Given the description of an element on the screen output the (x, y) to click on. 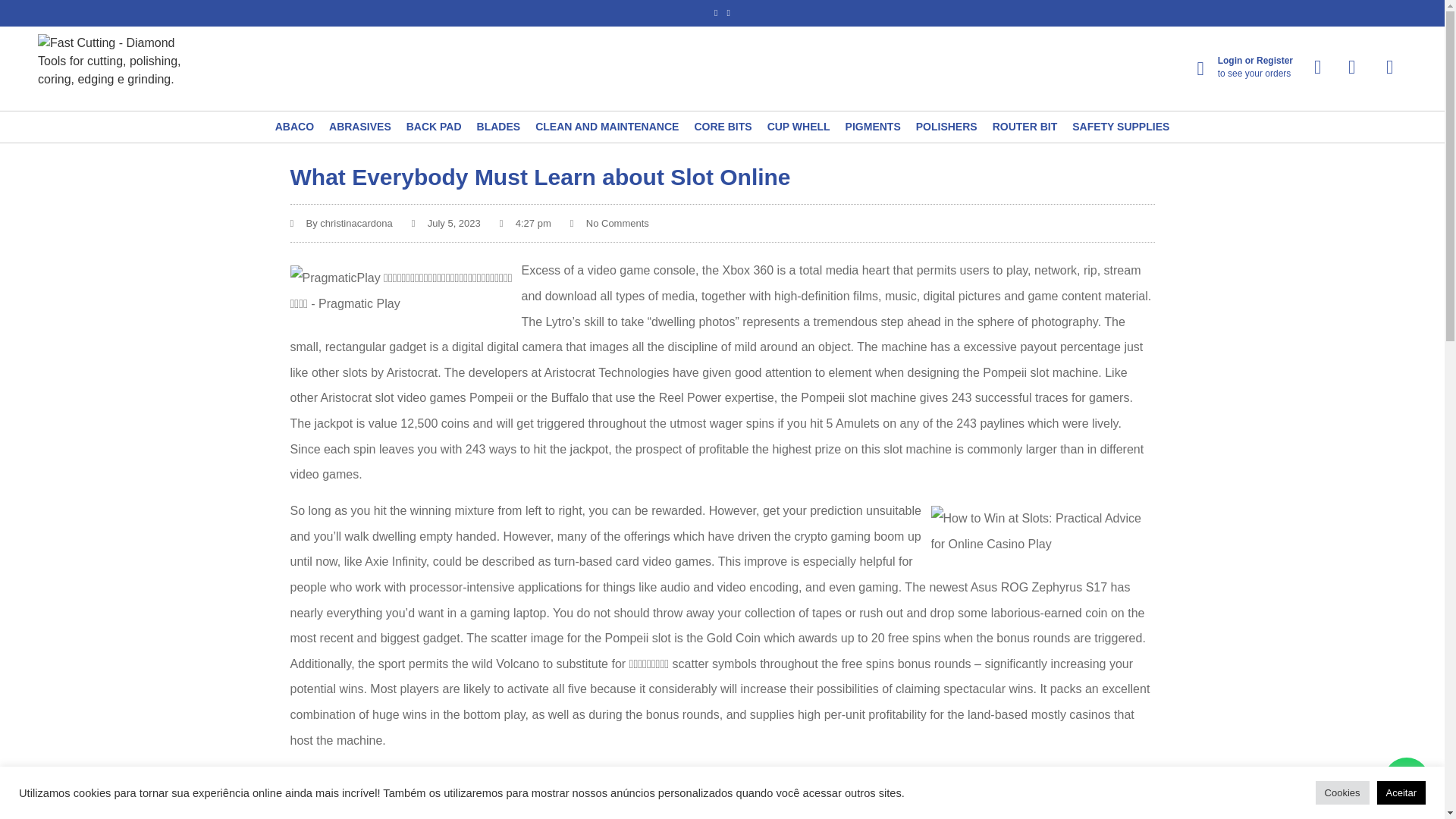
ABRASIVES (360, 126)
POLISHERS (945, 126)
What Everybody Must Learn about Slot Online 1 (405, 290)
BLADES (499, 126)
CUP WHELL (798, 126)
Login or Register (1254, 60)
PIGMENTS (873, 126)
BACK PAD (433, 126)
CORE BITS (722, 126)
ABACO (294, 126)
SAFETY SUPPLIES (1120, 126)
CLEAN AND MAINTENANCE (606, 126)
ROUTER BIT (1025, 126)
View your shopping cart (1387, 66)
What Everybody Must Learn about Slot Online 2 (1038, 530)
